Given the description of an element on the screen output the (x, y) to click on. 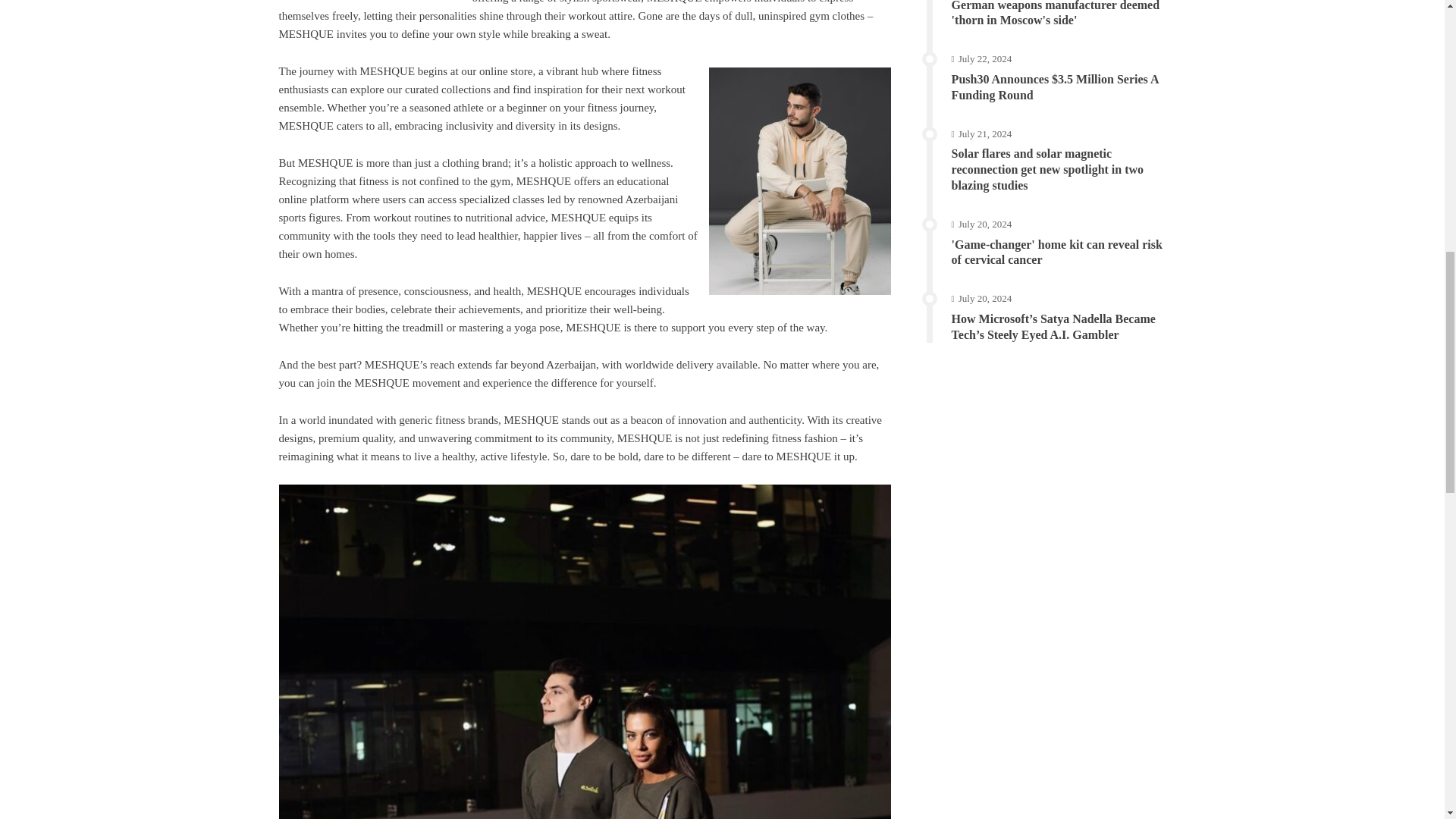
'Game-changer' home kit can reveal risk of cervical cancer (1056, 252)
